Given the description of an element on the screen output the (x, y) to click on. 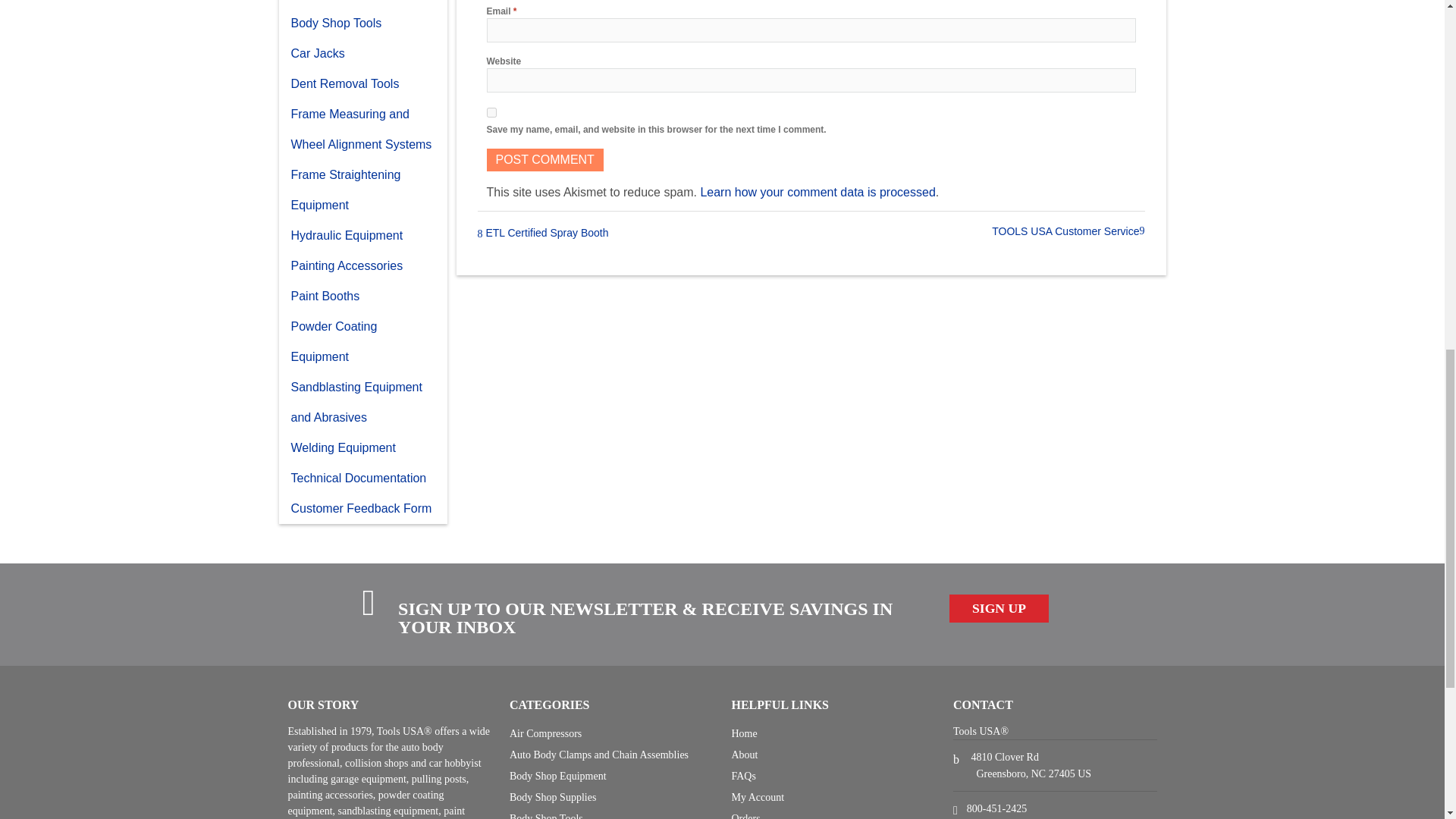
Post Comment (545, 159)
Car Jacks (362, 53)
Body Shop Supplies (362, 4)
Dent Removal Tools (362, 83)
Post Comment (545, 159)
Body Shop Tools (362, 23)
yes (491, 112)
